Given the description of an element on the screen output the (x, y) to click on. 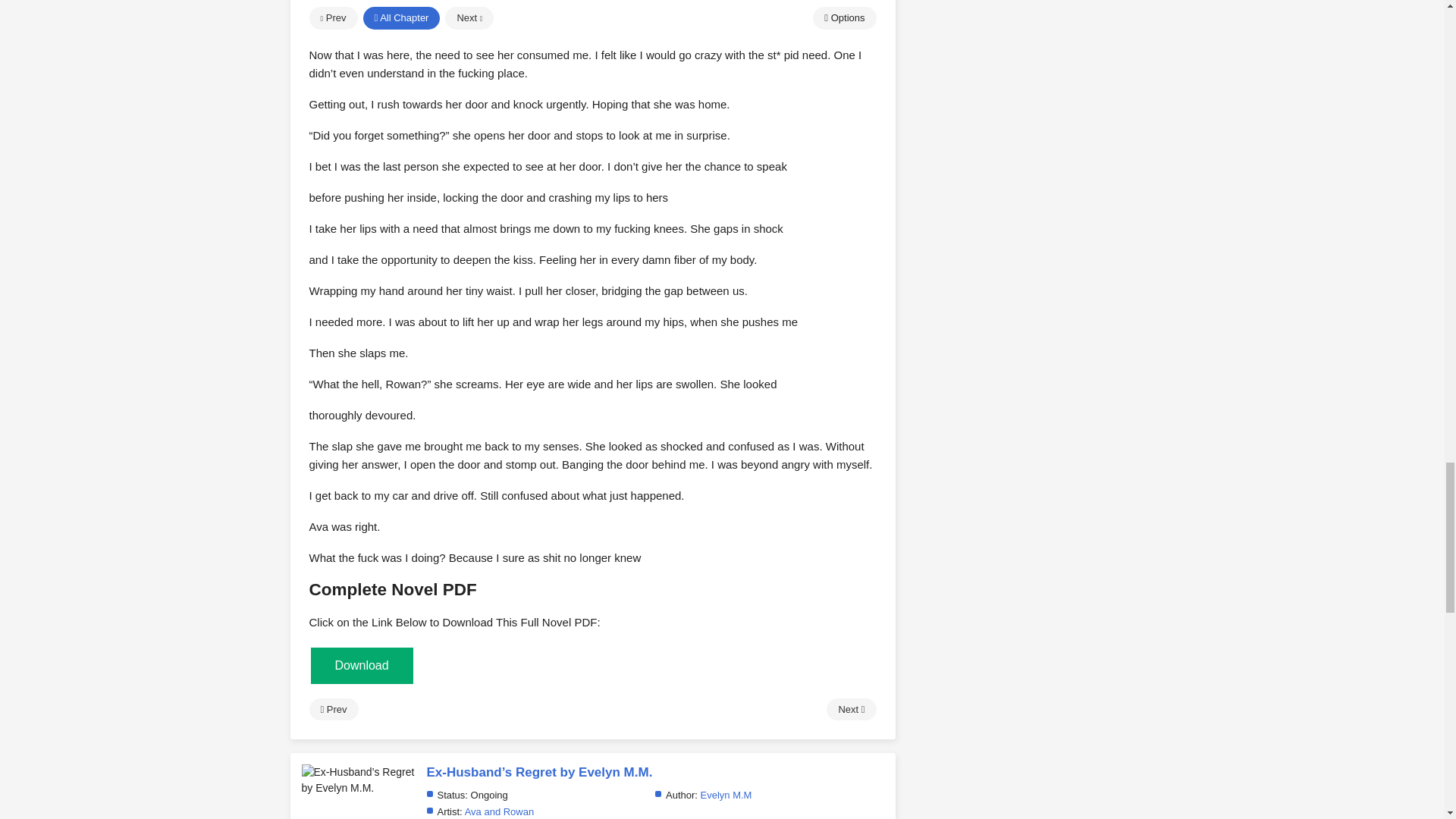
Next (851, 709)
Evelyn M.M (726, 794)
Prev (333, 709)
Download (362, 665)
Ava and Rowan (499, 811)
Download (361, 665)
